Given the description of an element on the screen output the (x, y) to click on. 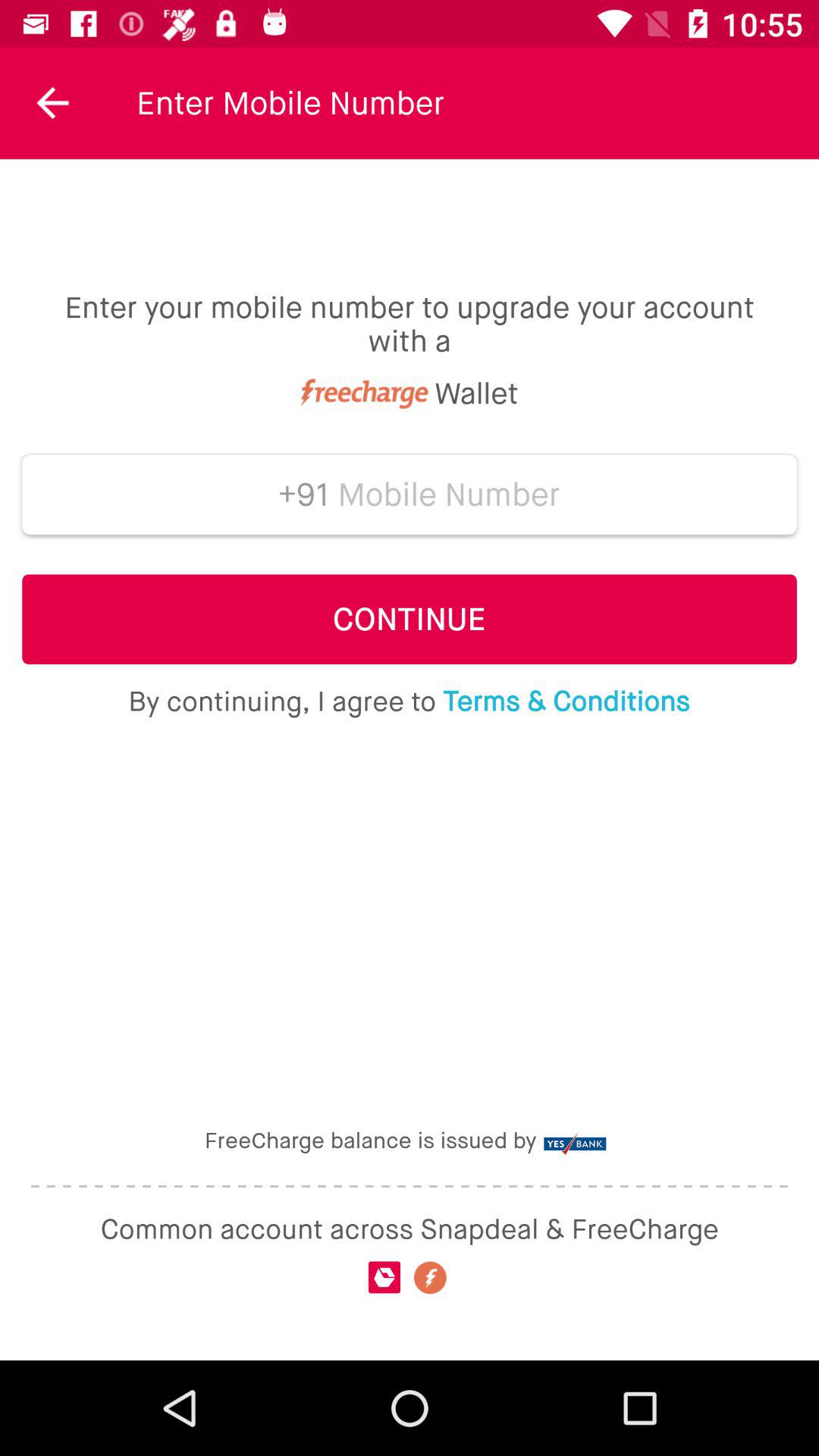
open continue item (409, 619)
